Given the description of an element on the screen output the (x, y) to click on. 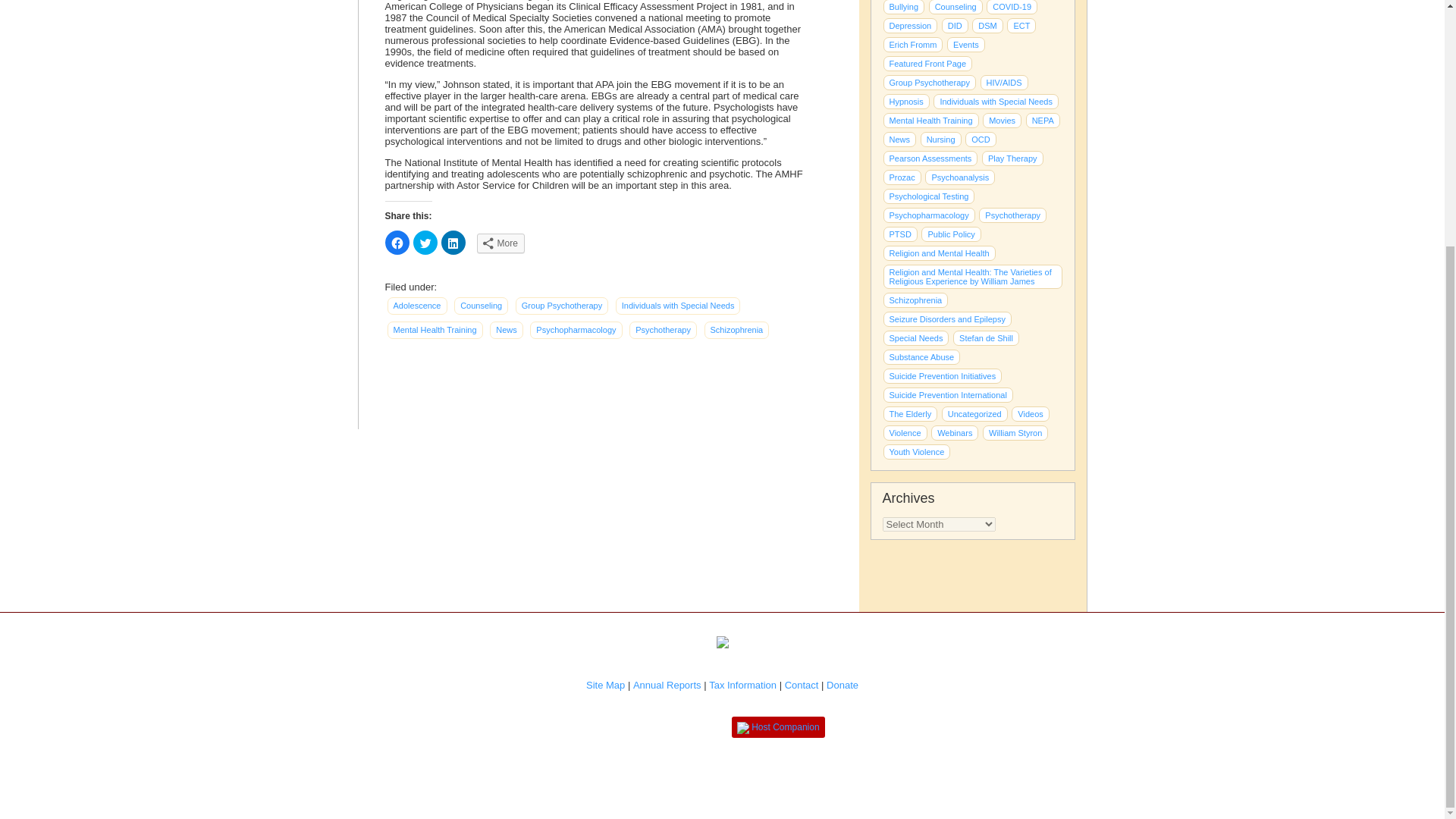
Eric J. Green (1012, 158)
More (500, 243)
News (505, 330)
Click to share on LinkedIn (453, 242)
Click to share on Twitter (424, 242)
Psychotherapy (662, 330)
Individuals with Special Needs (678, 305)
Psychopharmacology (575, 330)
Mental Health Training (434, 330)
Counseling (481, 305)
